Given the description of an element on the screen output the (x, y) to click on. 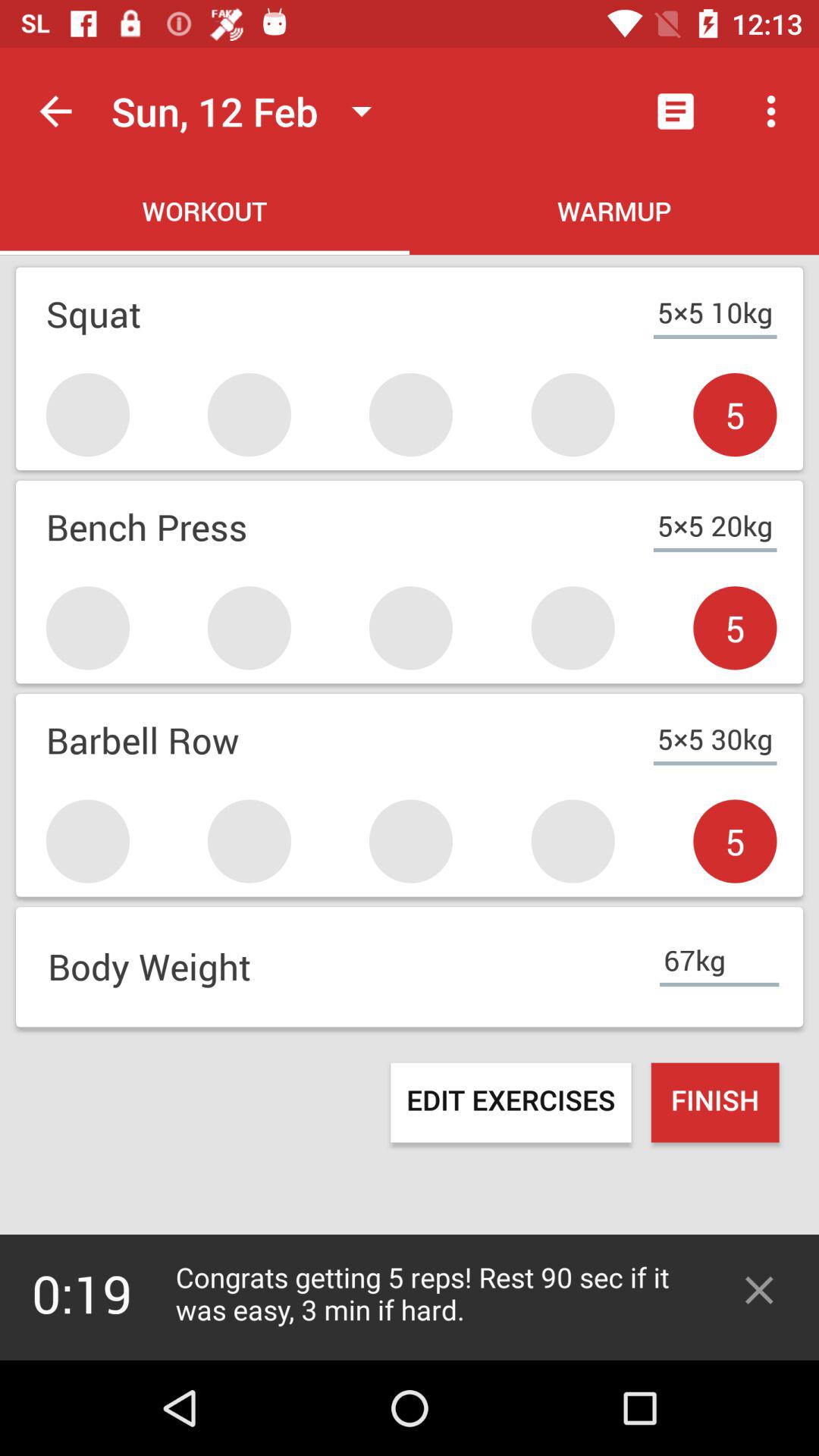
exit message (759, 1290)
